Given the description of an element on the screen output the (x, y) to click on. 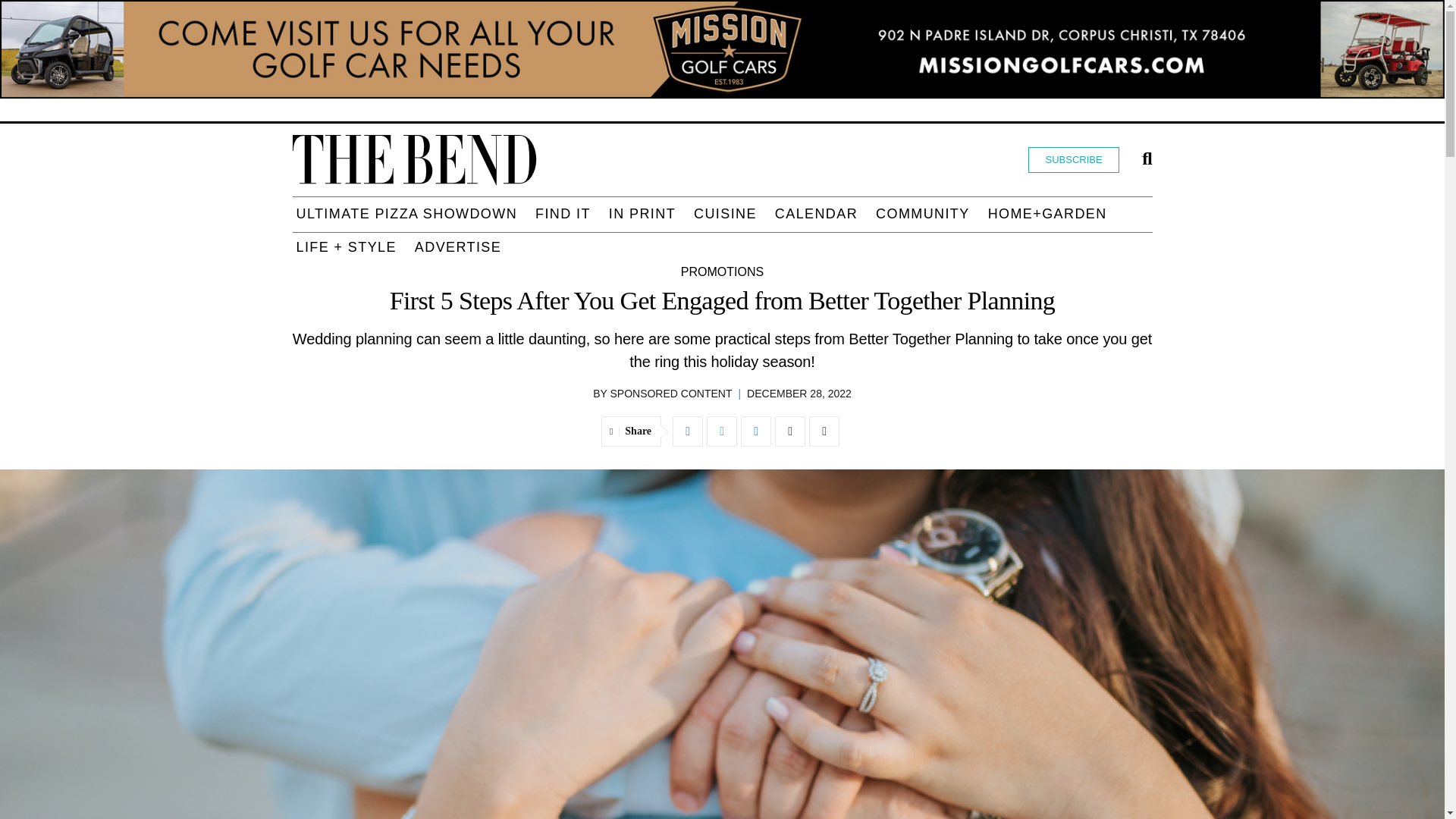
Ultimate Pizza Showdown (406, 213)
Find It (562, 213)
In Print (642, 213)
Cuisine (725, 213)
